Given the description of an element on the screen output the (x, y) to click on. 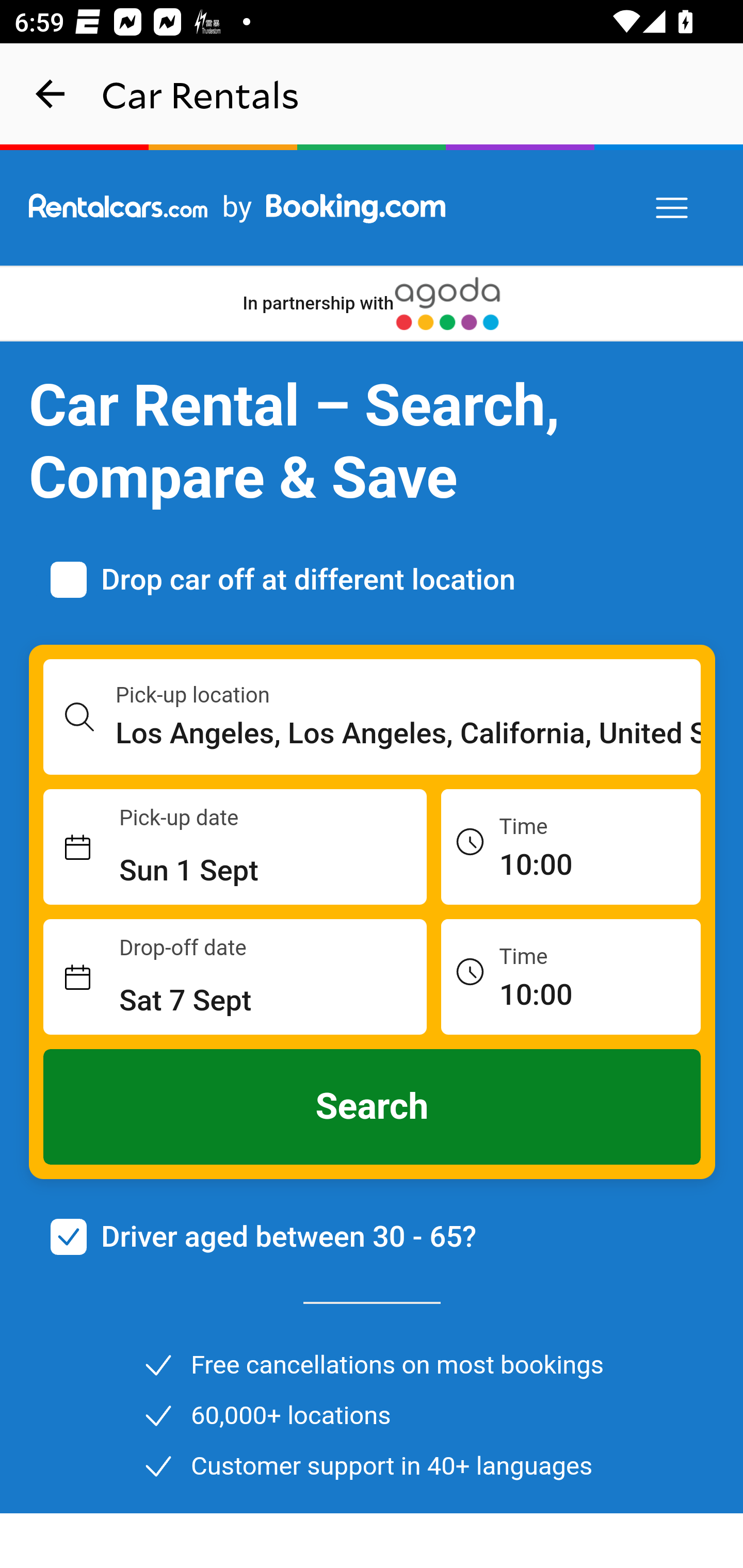
navigation_button (50, 93)
Menu (672, 208)
Pick-up date Sun 1 Sept (235, 847)
10:00 (571, 845)
Drop-off date Sat 7 Sept (235, 977)
10:00 (571, 975)
Search (372, 1106)
